Given the description of an element on the screen output the (x, y) to click on. 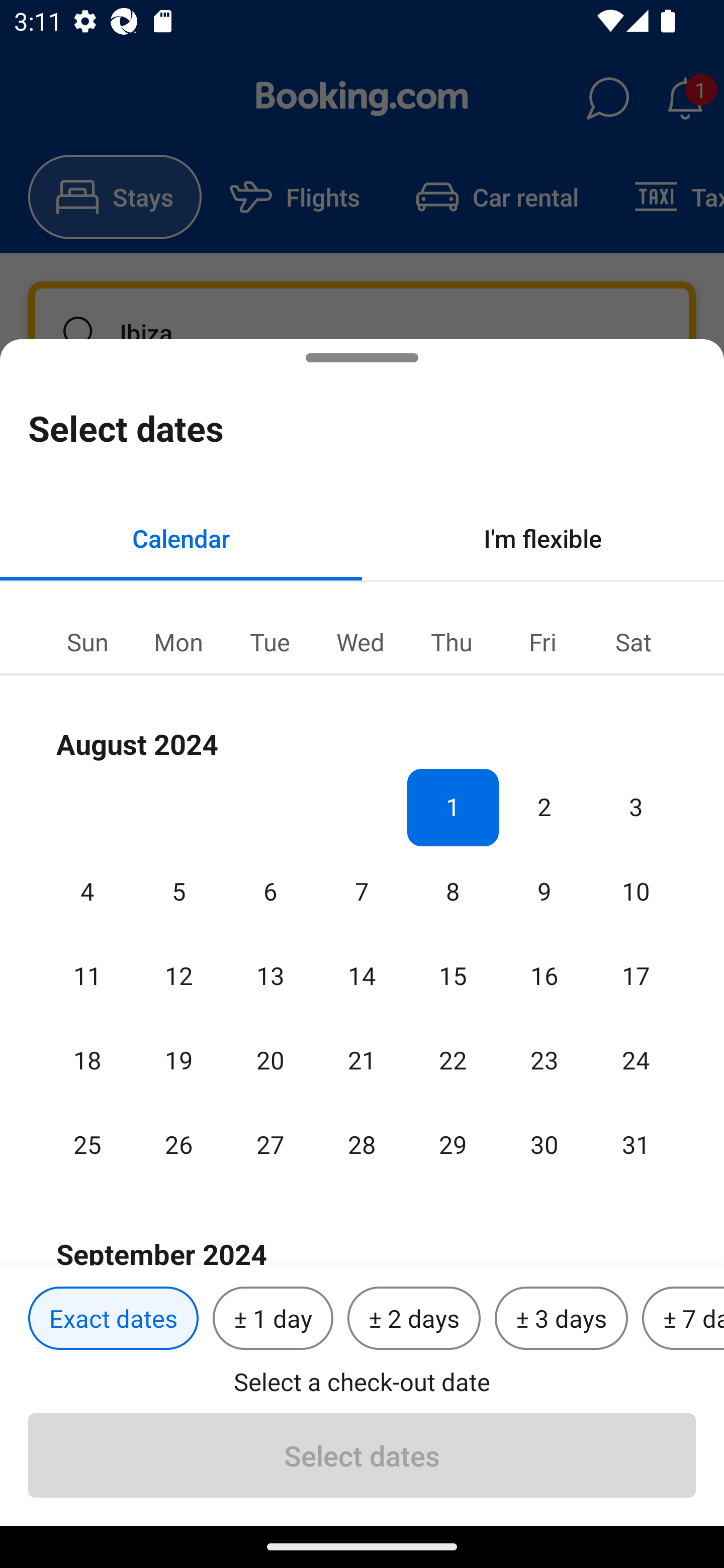
I'm flexible (543, 537)
Exact dates (113, 1318)
± 1 day (272, 1318)
± 2 days (413, 1318)
± 3 days (560, 1318)
± 7 days (683, 1318)
Select dates (361, 1454)
